Given the description of an element on the screen output the (x, y) to click on. 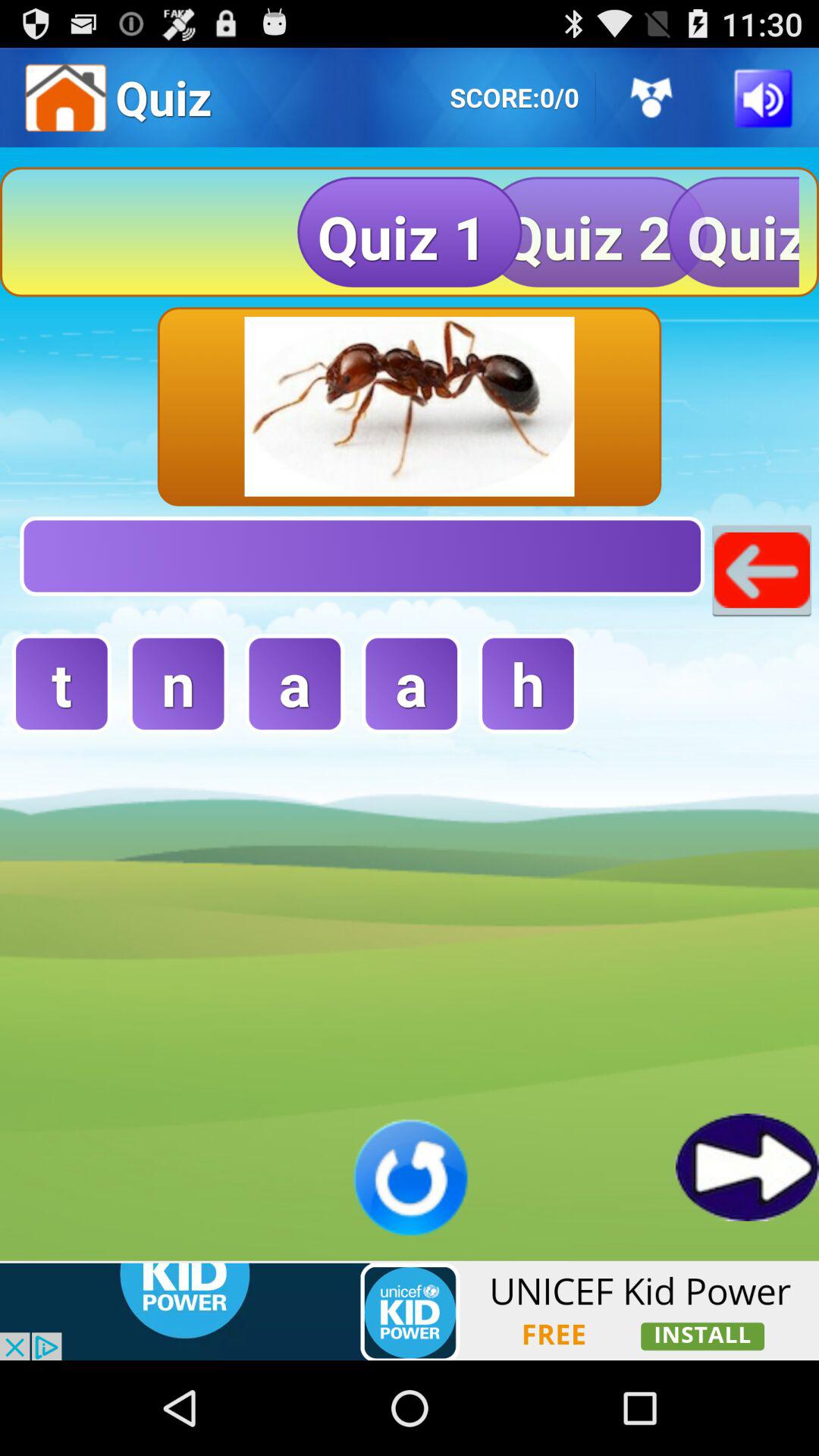
reverse (409, 1177)
